Given the description of an element on the screen output the (x, y) to click on. 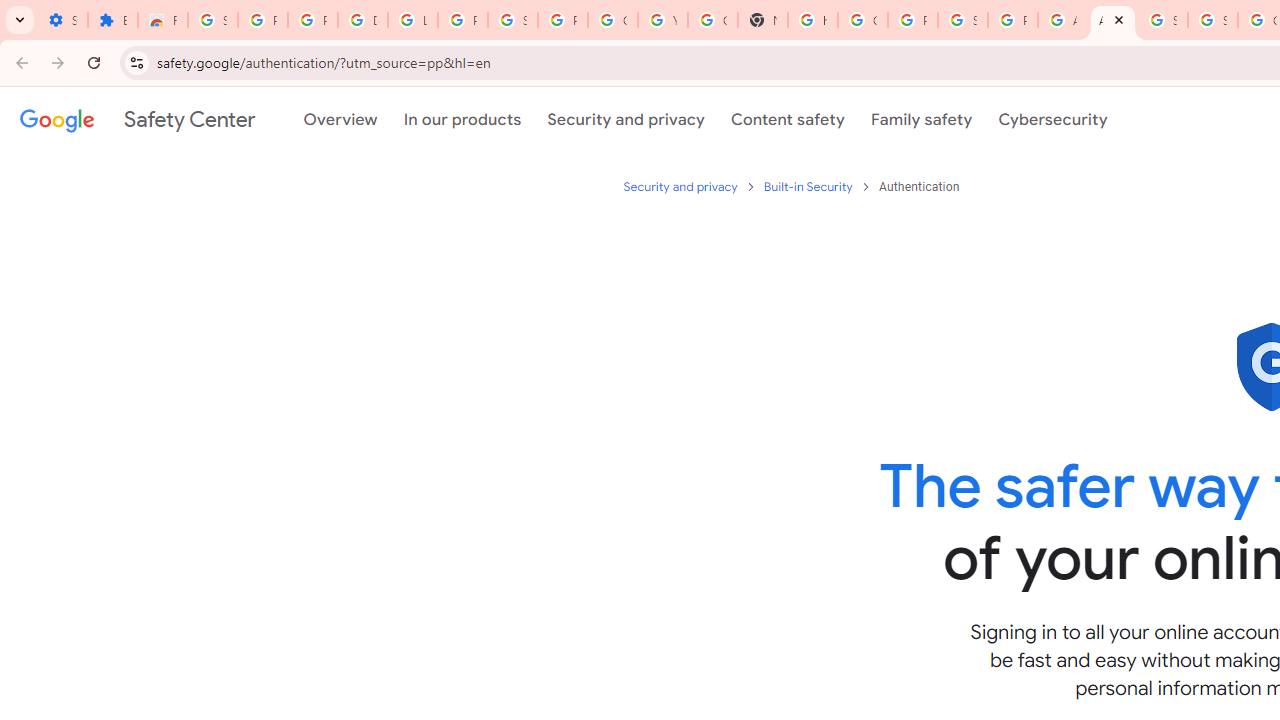
Reviews: Helix Fruit Jump Arcade Game (163, 20)
Sign in - Google Accounts (213, 20)
Security and privacy  (682, 186)
Sign in - Google Accounts (1212, 20)
